Given the description of an element on the screen output the (x, y) to click on. 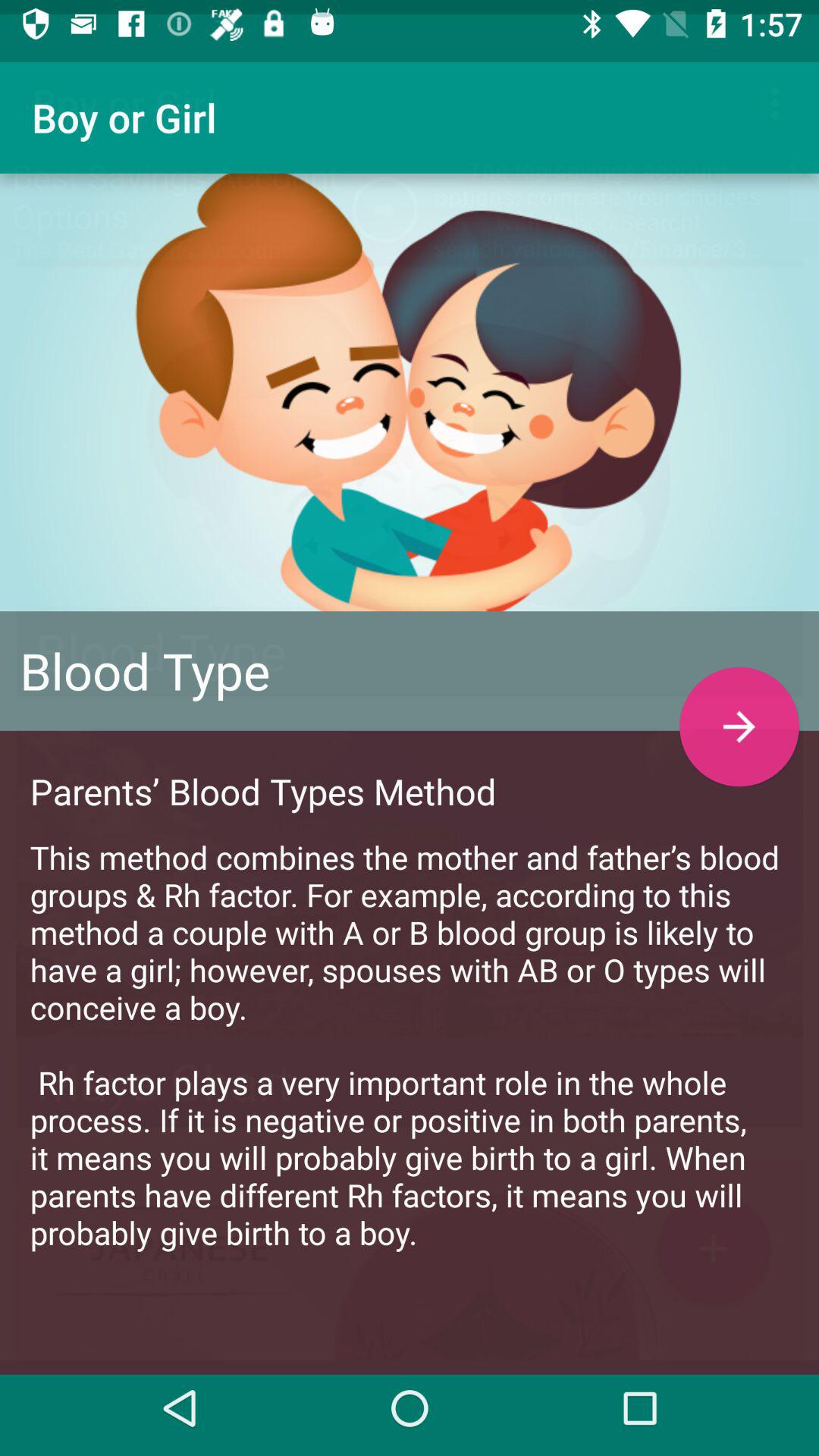
press the item above this method combines icon (739, 712)
